Given the description of an element on the screen output the (x, y) to click on. 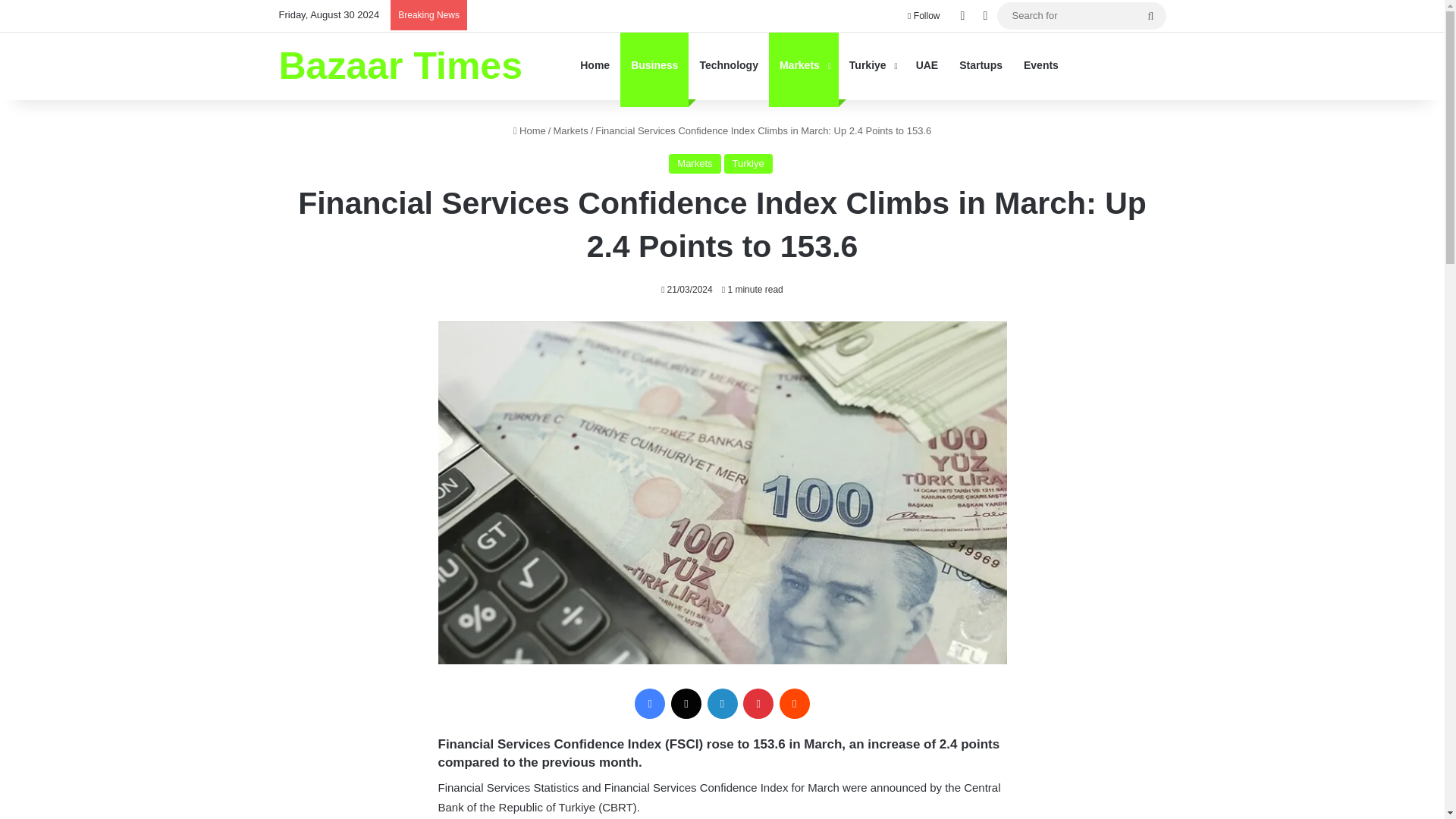
Facebook (649, 703)
Turkiye (871, 65)
Startups (981, 65)
Technology (728, 65)
Markets (803, 65)
Bazaar Times (400, 65)
Business (654, 65)
Turkiye (748, 163)
Home (529, 130)
Bazaar Times (400, 65)
